Given the description of an element on the screen output the (x, y) to click on. 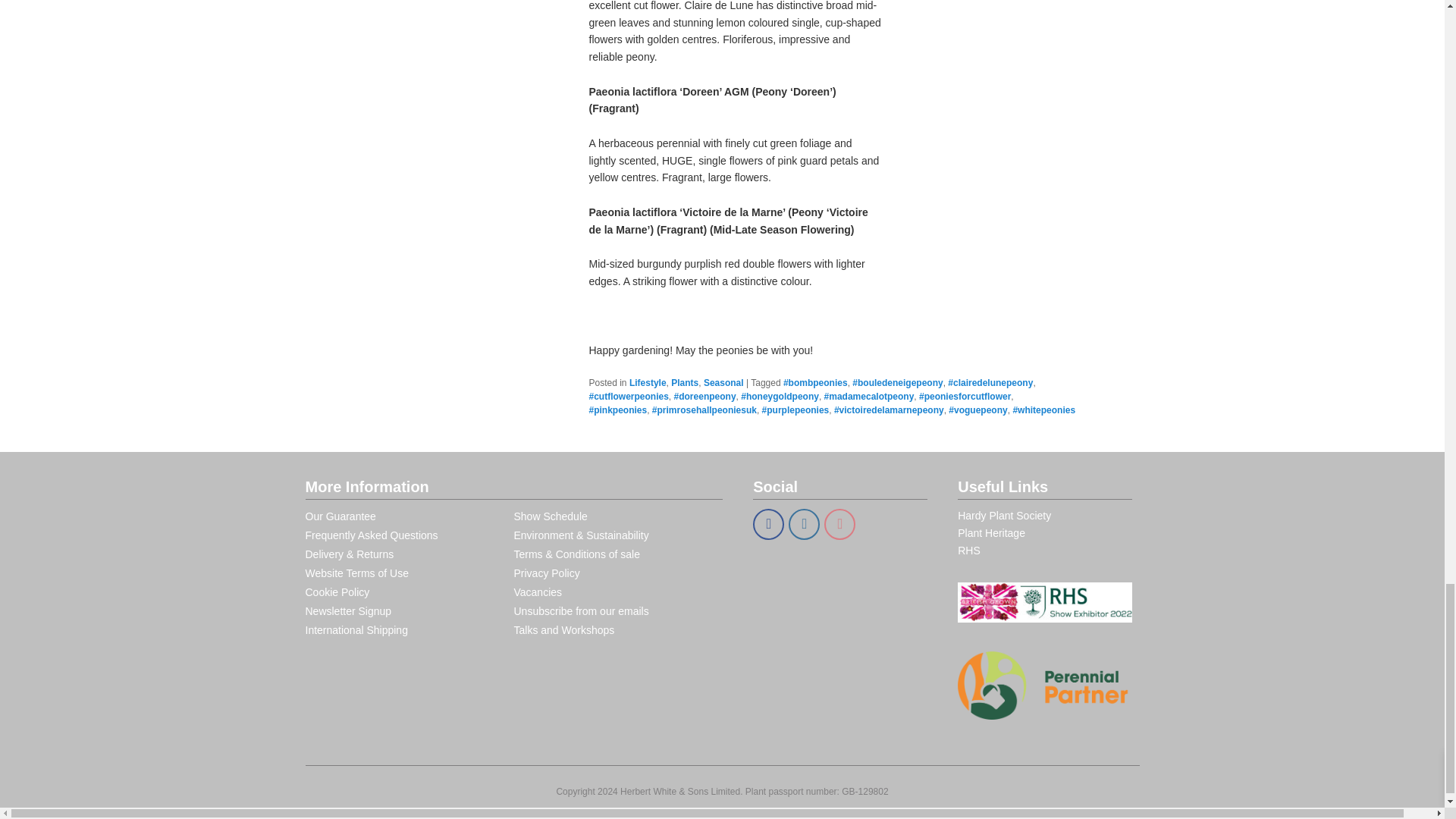
Primrose Hall Peonies on Pinterest (840, 523)
Primrose Hall Peonies on Instagram (804, 523)
Primrose Hall Peonies on Facebook (768, 523)
